Given the description of an element on the screen output the (x, y) to click on. 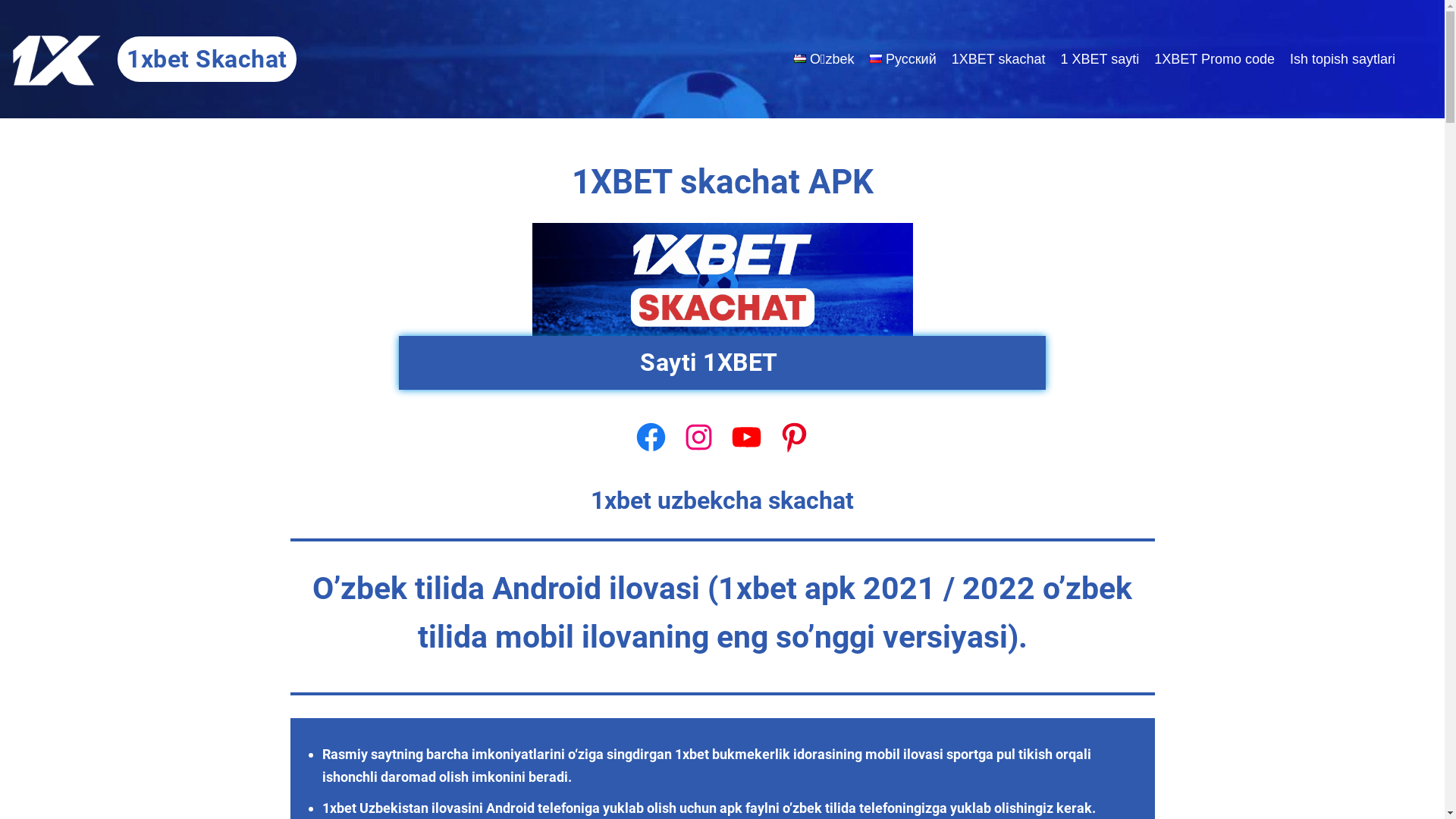
Skip to content Element type: text (11, 31)
1XBET Promo code Element type: text (1214, 59)
1xbet Skachat Element type: text (206, 59)
Ish topish saytlari Element type: text (1342, 59)
1XBET skachat Element type: text (998, 59)
Sayti 1XBET Element type: text (721, 362)
1xbet skachat Element type: hover (722, 278)
1 XBET sayti Element type: text (1099, 59)
